Given the description of an element on the screen output the (x, y) to click on. 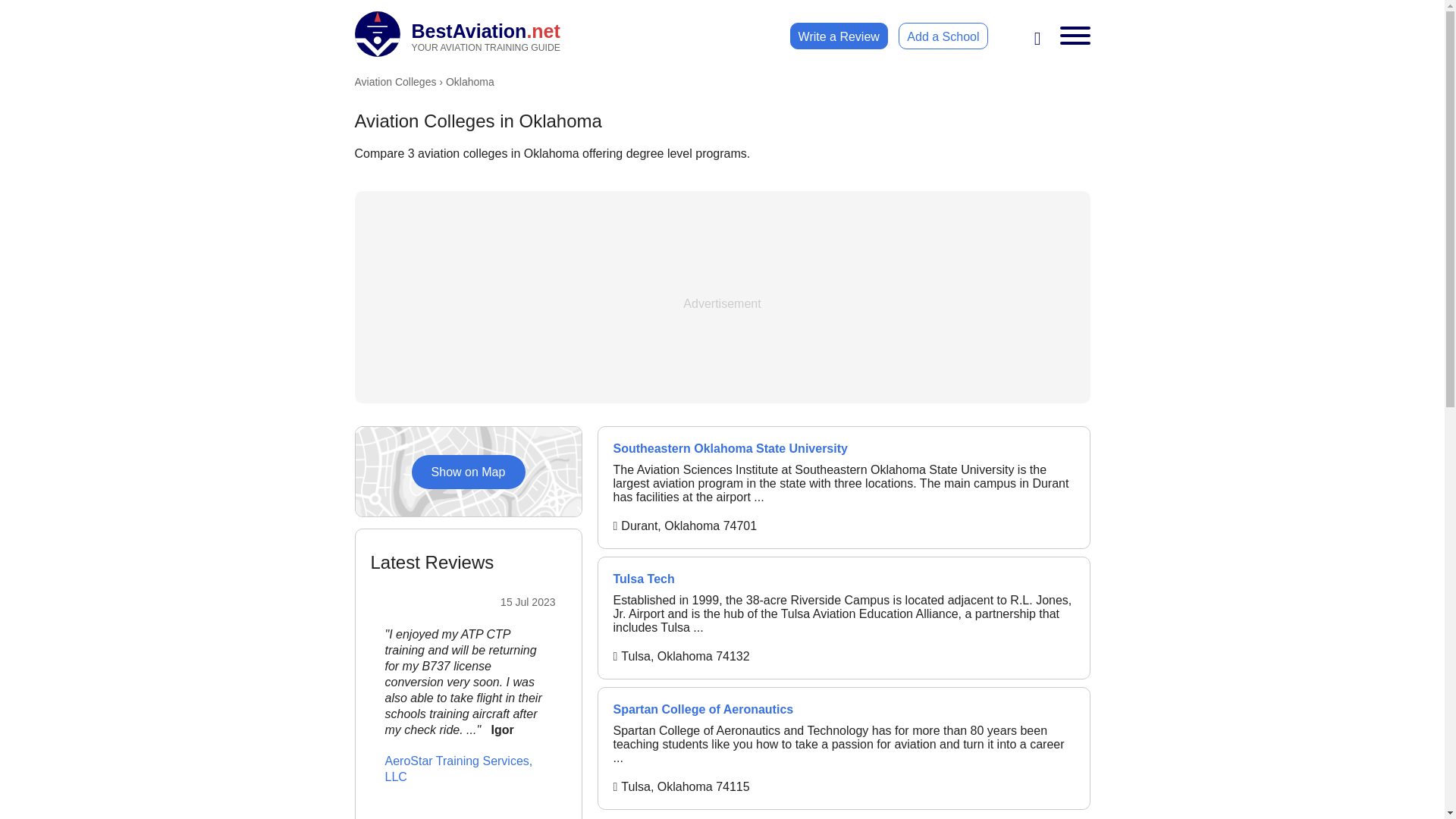
List of Aviation Colleges (395, 81)
AeroStar Training Services, LLC (458, 768)
Southeastern Oklahoma State University (843, 448)
Tulsa Tech (843, 579)
Select Aviation Training Center (861, 744)
AeroStar Training Services, LLC (656, 784)
AeroStar Training Services, LLC (457, 32)
Show on Map (458, 768)
AeroStar Training Services, LLC (467, 471)
Queens Aviation (656, 784)
Select Aviation Training Center (1217, 760)
Aviation Colleges (861, 744)
Spartan College of Aeronautics (395, 81)
Ethiopian Avaition Academy (843, 709)
